Given the description of an element on the screen output the (x, y) to click on. 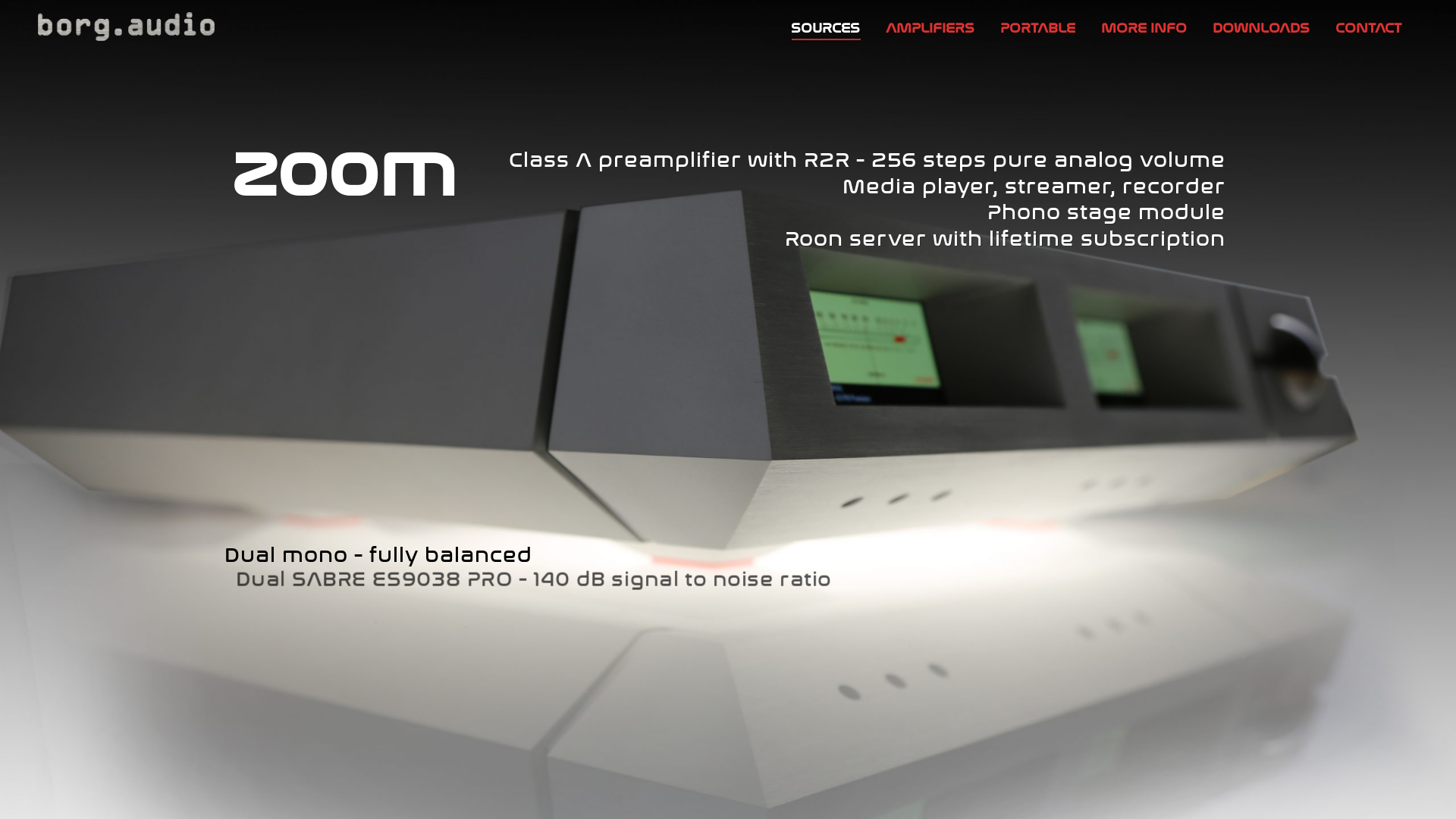
SOURCES Element type: text (825, 26)
CONTACT Element type: text (1368, 26)
PORTABLE Element type: text (1037, 26)
DOWNLOADS Element type: text (1260, 26)
MORE INFO Element type: text (1143, 26)
AMPLIFIERS Element type: text (929, 26)
